Given the description of an element on the screen output the (x, y) to click on. 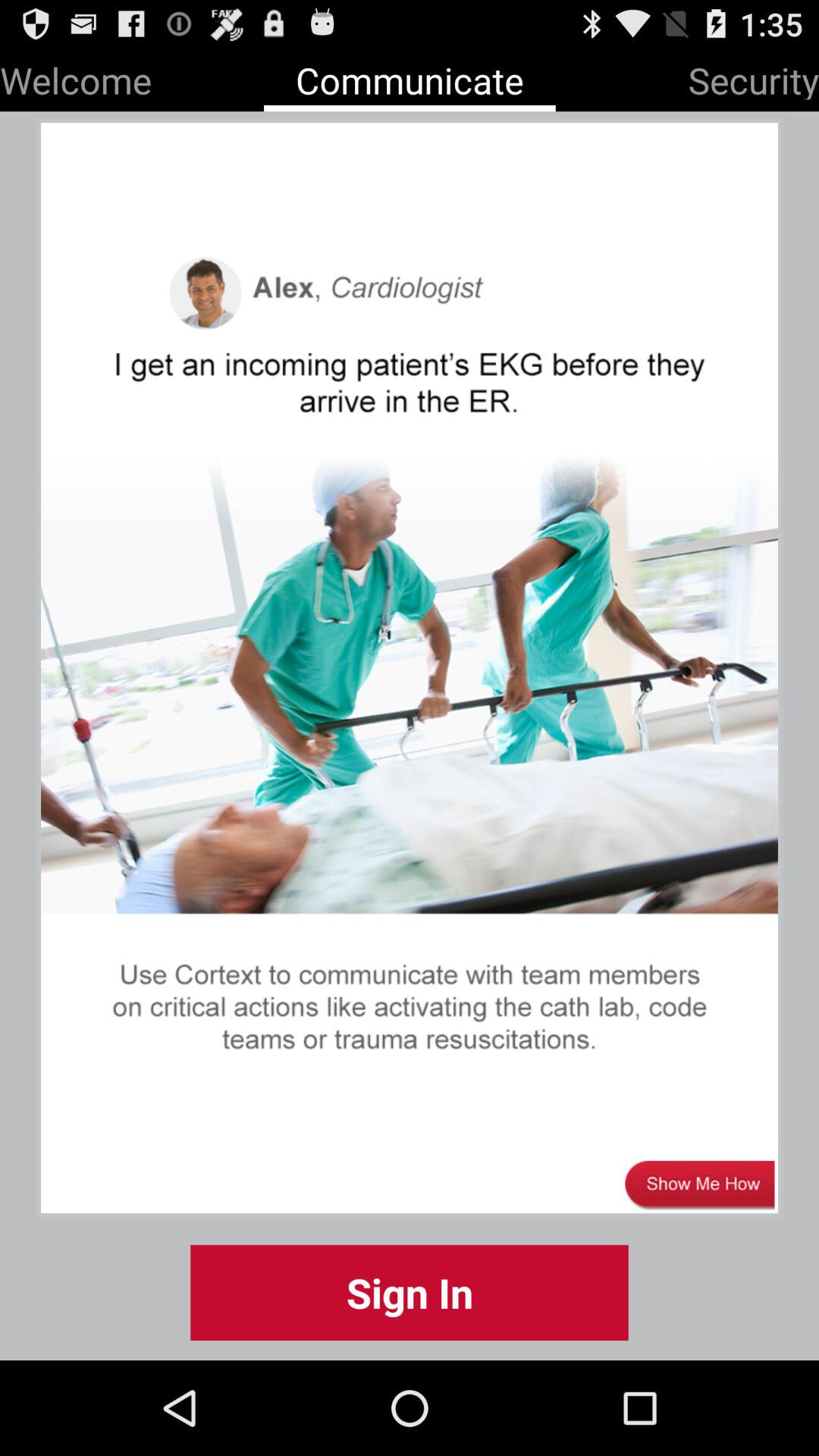
choose the item to the left of the communicate app (75, 77)
